Given the description of an element on the screen output the (x, y) to click on. 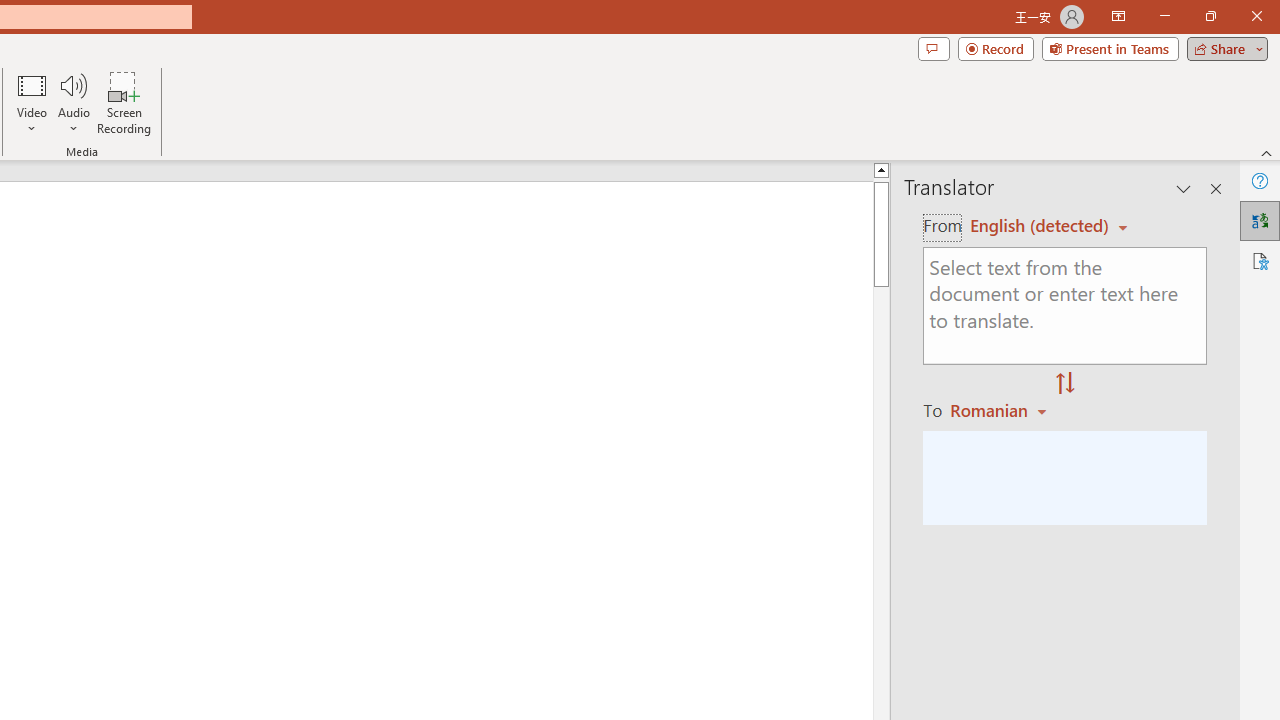
Romanian (1001, 409)
Video (31, 102)
